Given the description of an element on the screen output the (x, y) to click on. 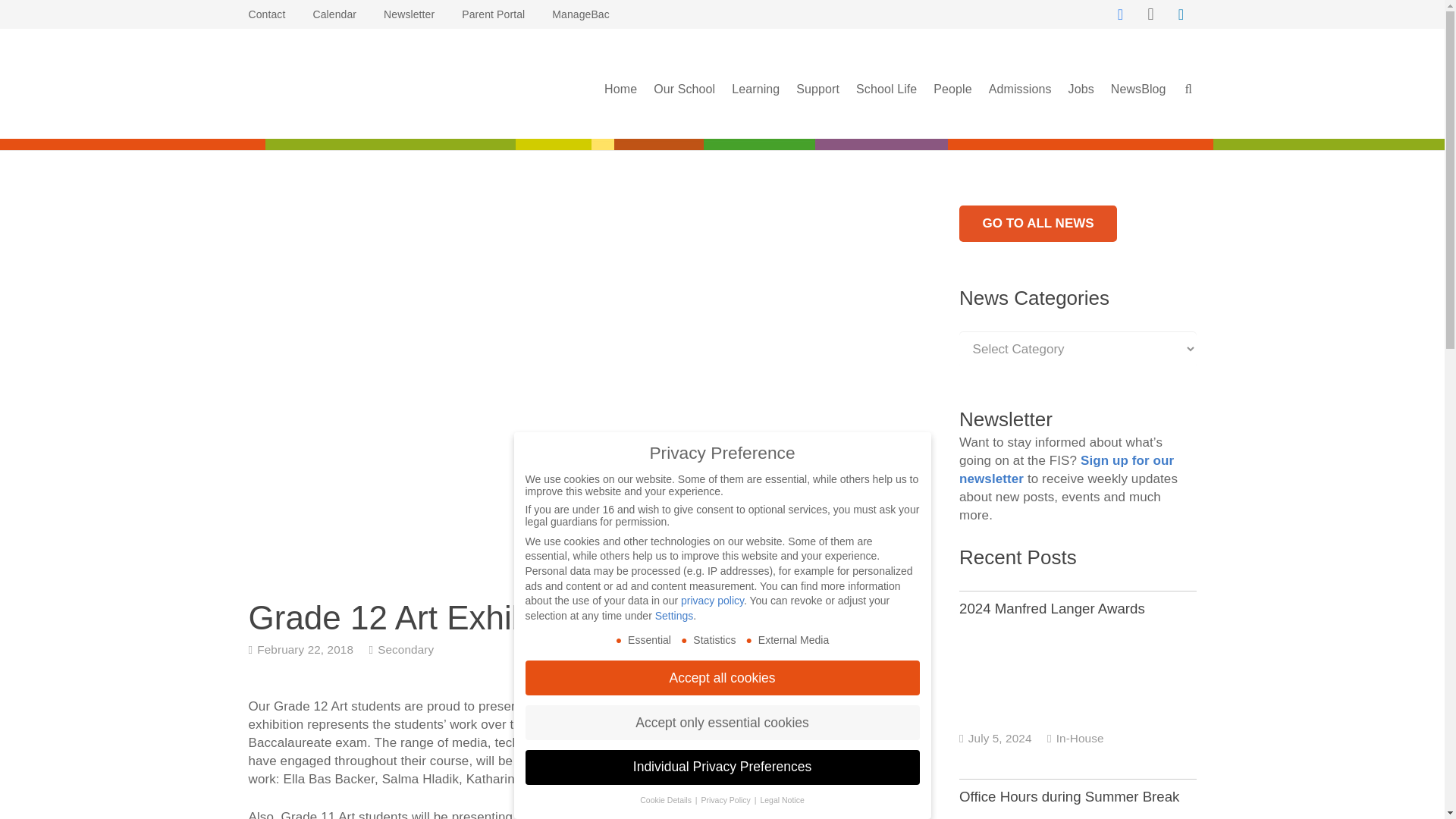
Contact (266, 14)
School Life (885, 89)
Learning (755, 89)
Newsletter (408, 14)
LinkedIn (1181, 14)
Our School (684, 89)
People (951, 89)
ManageBac (580, 14)
Support (817, 89)
Parent Portal (492, 14)
Facebook (1120, 14)
Home (620, 89)
NewsBlog (1037, 223)
Calendar (334, 14)
Instagram (1150, 14)
